Given the description of an element on the screen output the (x, y) to click on. 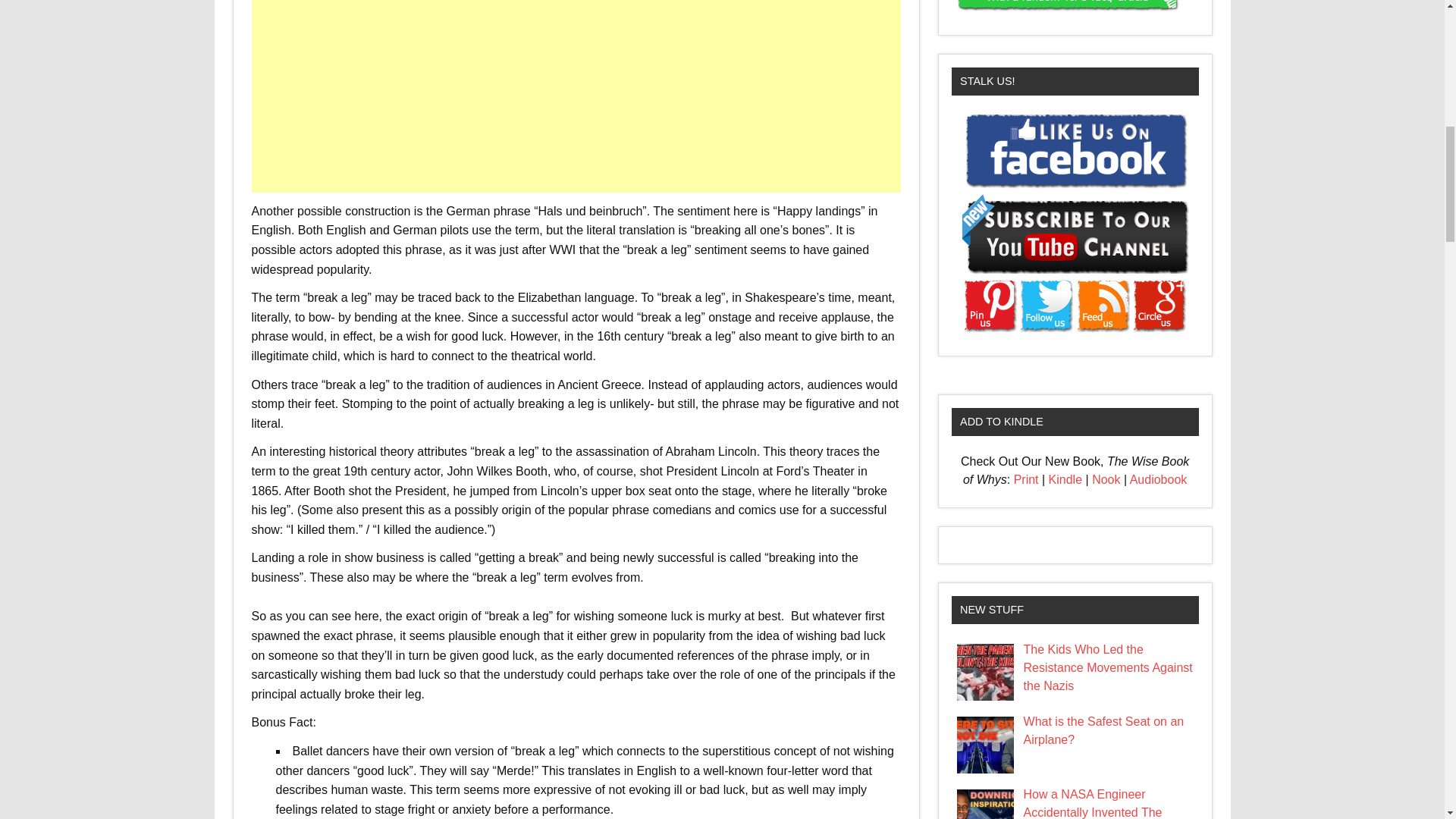
Advertisement (577, 95)
